Given the description of an element on the screen output the (x, y) to click on. 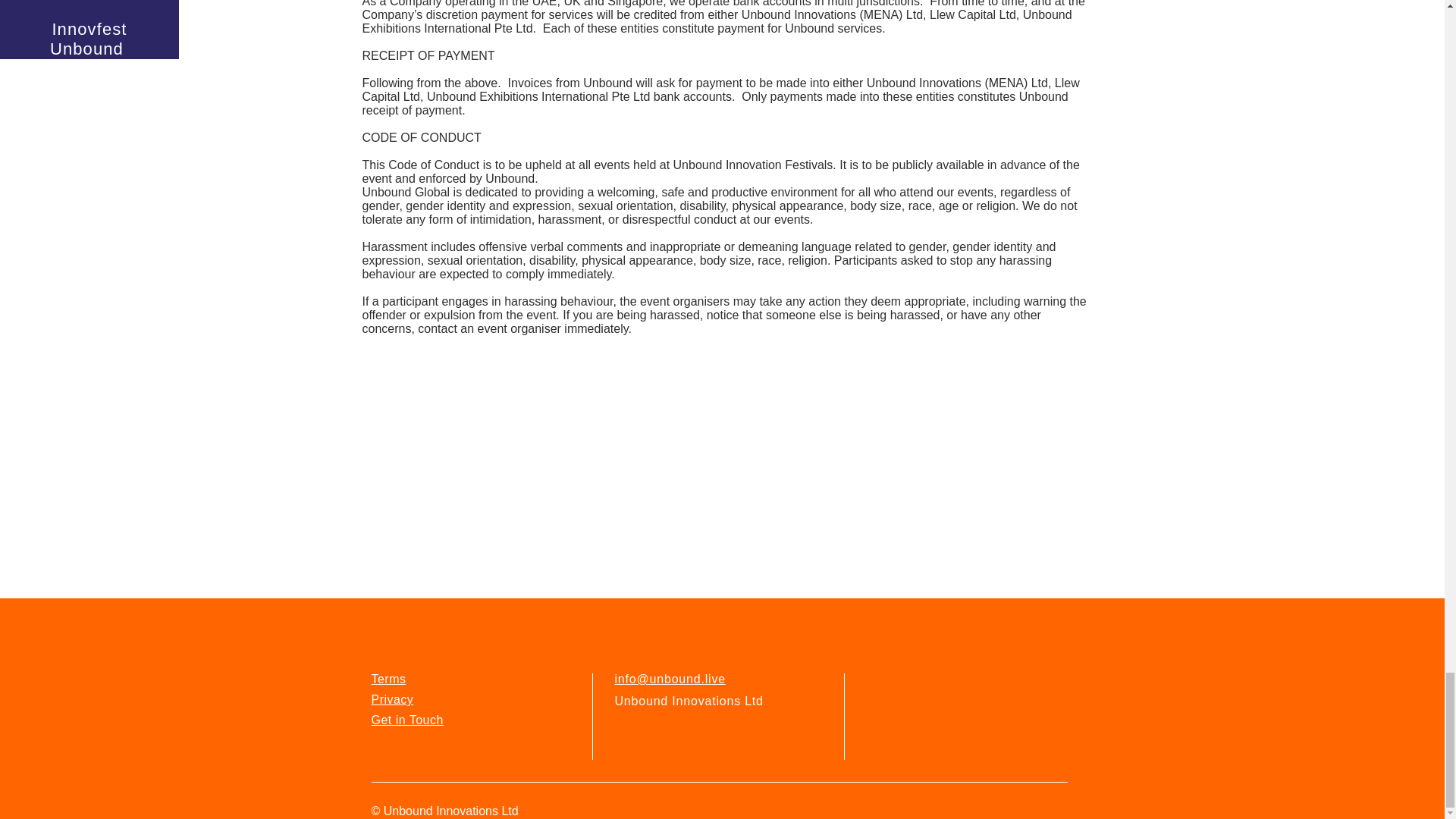
Privacy (392, 698)
Get in Touch (407, 719)
Terms (388, 678)
